Given the description of an element on the screen output the (x, y) to click on. 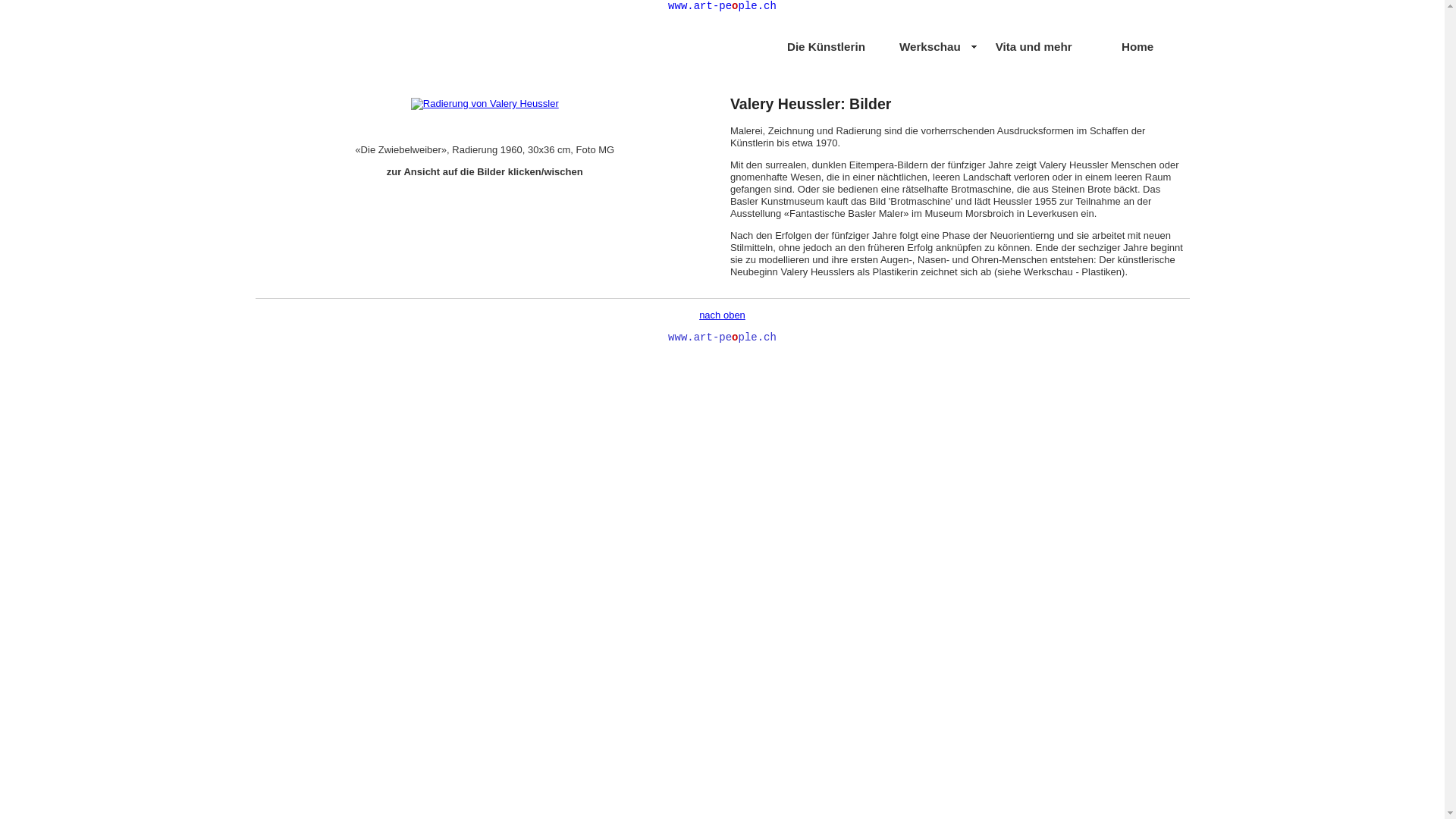
www.art-people.ch Element type: text (722, 6)
Home Element type: text (1137, 46)
Vita und mehr Element type: text (1033, 46)
nach oben Element type: text (722, 314)
Werkschau Element type: text (930, 46)
